Given the description of an element on the screen output the (x, y) to click on. 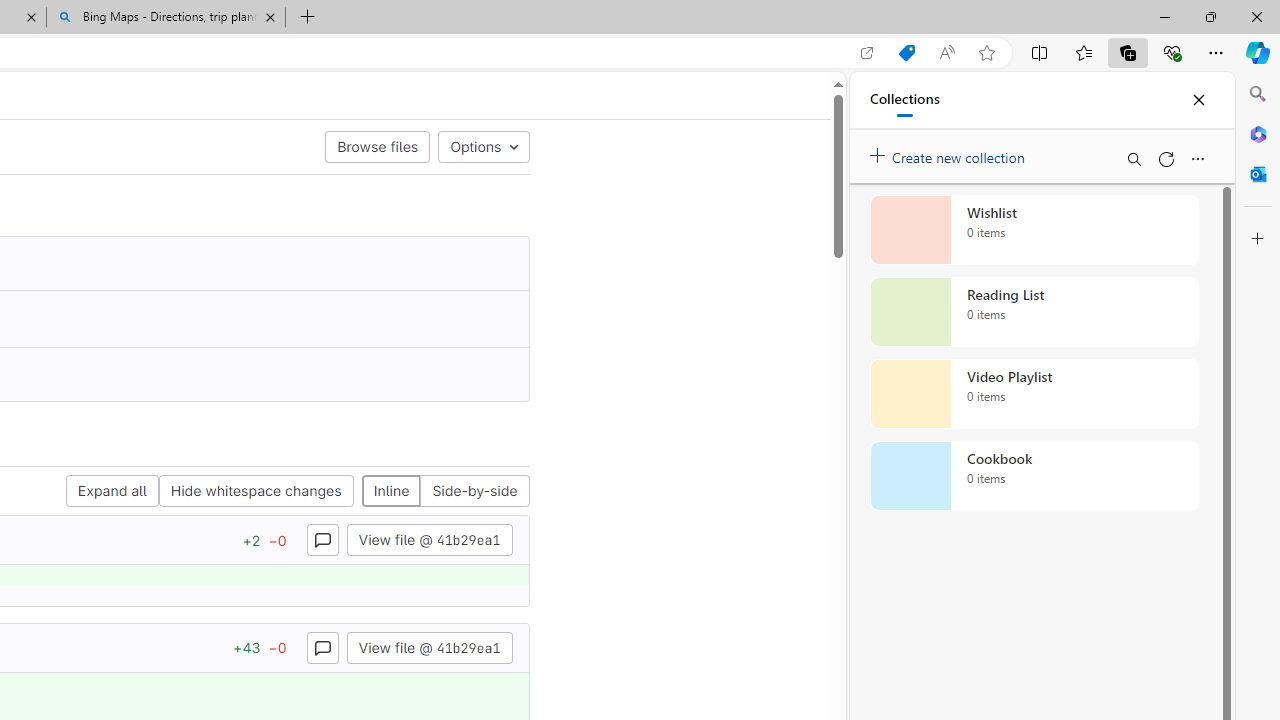
Customize (1258, 239)
Video Playlist collection, 0 items (1034, 394)
Settings and more (Alt+F) (1215, 52)
Microsoft 365 (1258, 133)
Cookbook collection, 0 items (1034, 475)
